Given the description of an element on the screen output the (x, y) to click on. 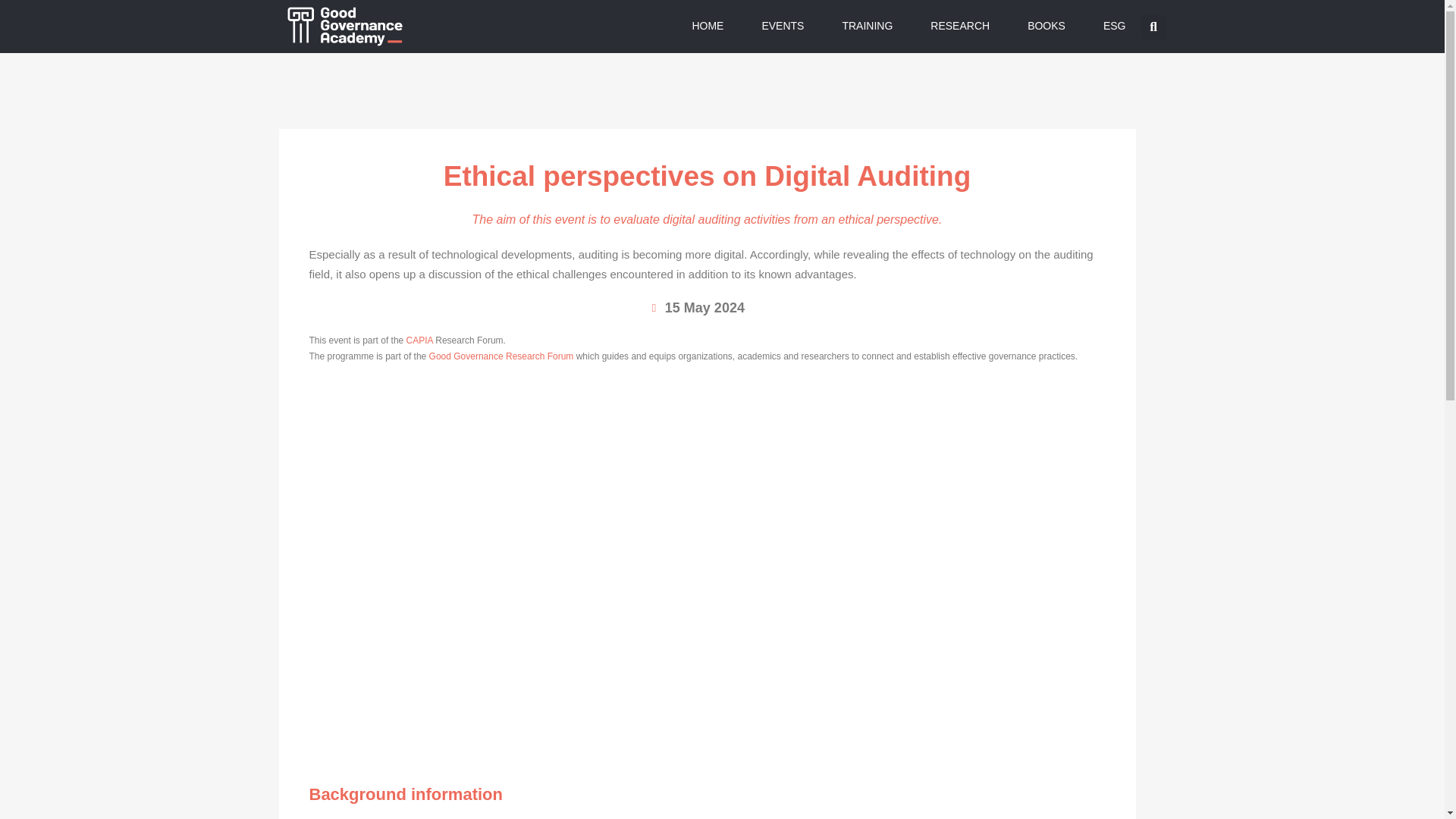
BOOKS (1045, 26)
CAPIA (419, 339)
RESEARCH (959, 26)
Good Governance Research Forum (501, 356)
HOME (707, 26)
TRAINING (867, 26)
EVENTS (781, 26)
ESG (1114, 26)
